Given the description of an element on the screen output the (x, y) to click on. 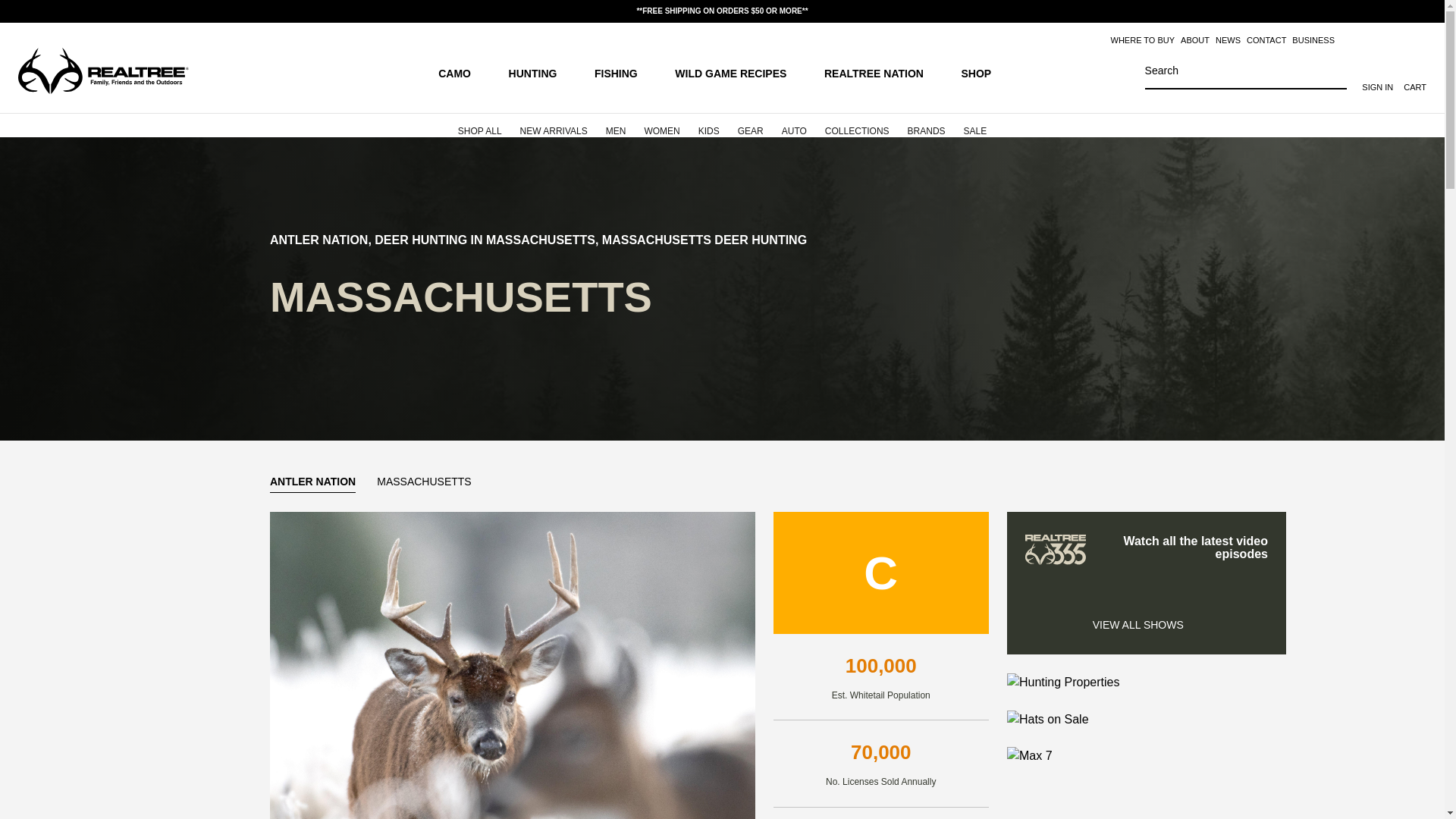
CONTACT (1265, 40)
Close promo bar (1424, 10)
NEWS (1227, 40)
CAMO (461, 72)
Close (1424, 10)
ABOUT (1194, 40)
BUSINESS (1313, 40)
HUNTING (540, 72)
WHERE TO BUY (1142, 40)
